Given the description of an element on the screen output the (x, y) to click on. 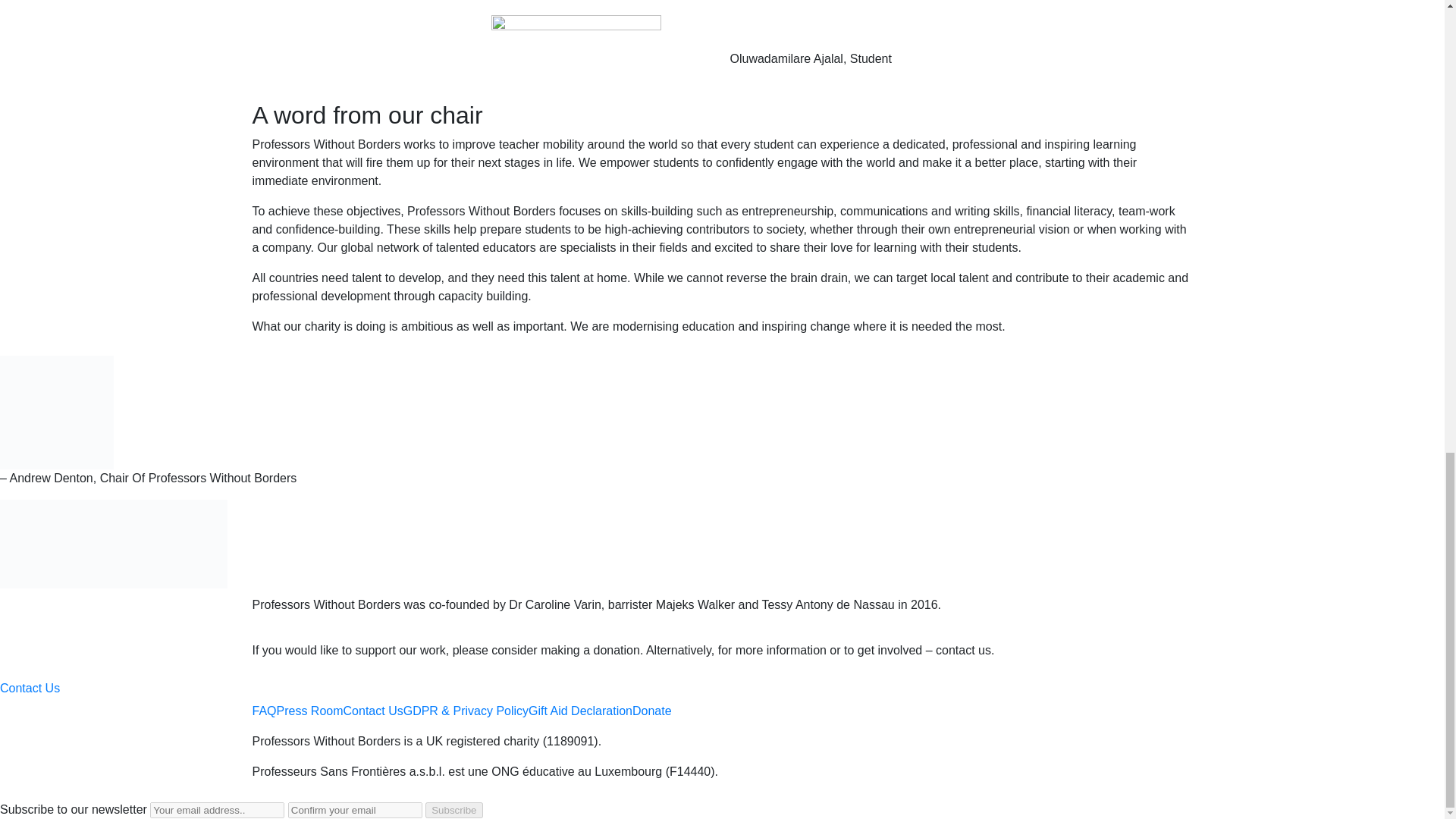
Subscribe (453, 810)
Contact Us (29, 687)
Donate (651, 711)
FAQ (263, 711)
Contact Us (373, 711)
Press Room (309, 711)
Gift Aid Declaration (579, 711)
Subscribe (453, 810)
